Given the description of an element on the screen output the (x, y) to click on. 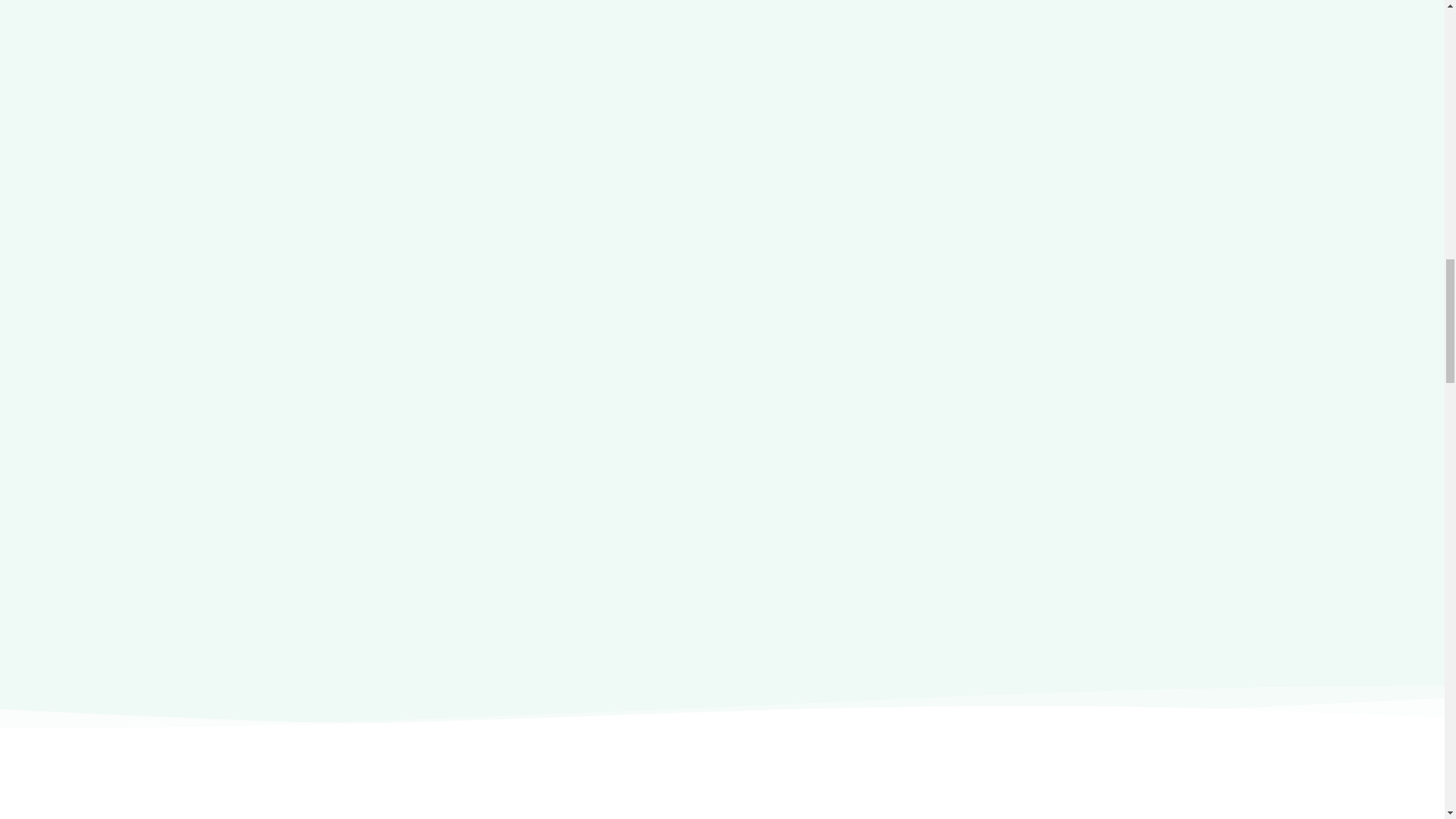
Reverse vending machines (706, 426)
Compactor Bin (669, 473)
